Given the description of an element on the screen output the (x, y) to click on. 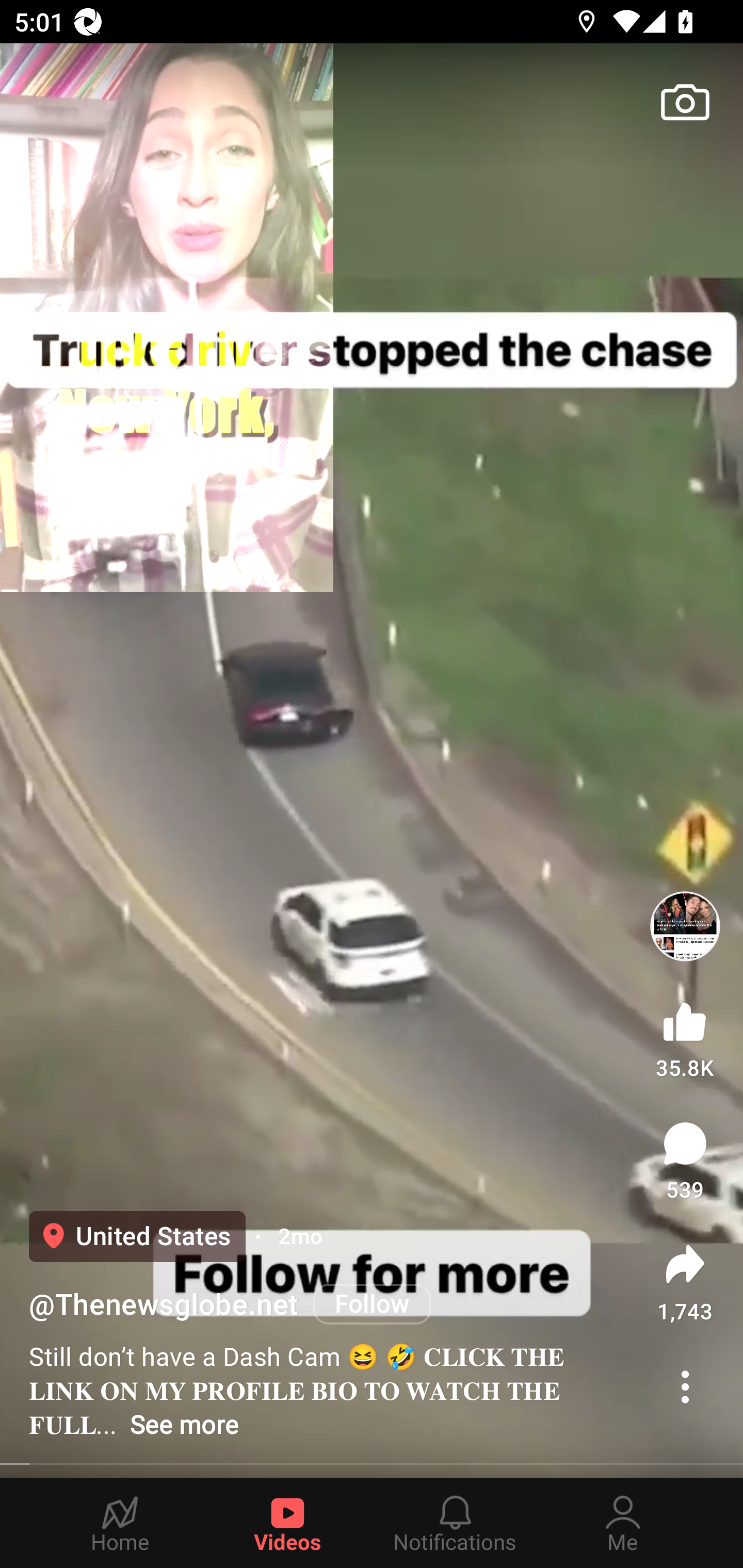
35.8K (684, 1035)
539 (684, 1160)
United States (136, 1236)
1,743 (685, 1282)
Follow (372, 1304)
@Thenewsglobe.net (163, 1304)
Home (119, 1522)
Notifications (455, 1522)
Me (622, 1522)
